Given the description of an element on the screen output the (x, y) to click on. 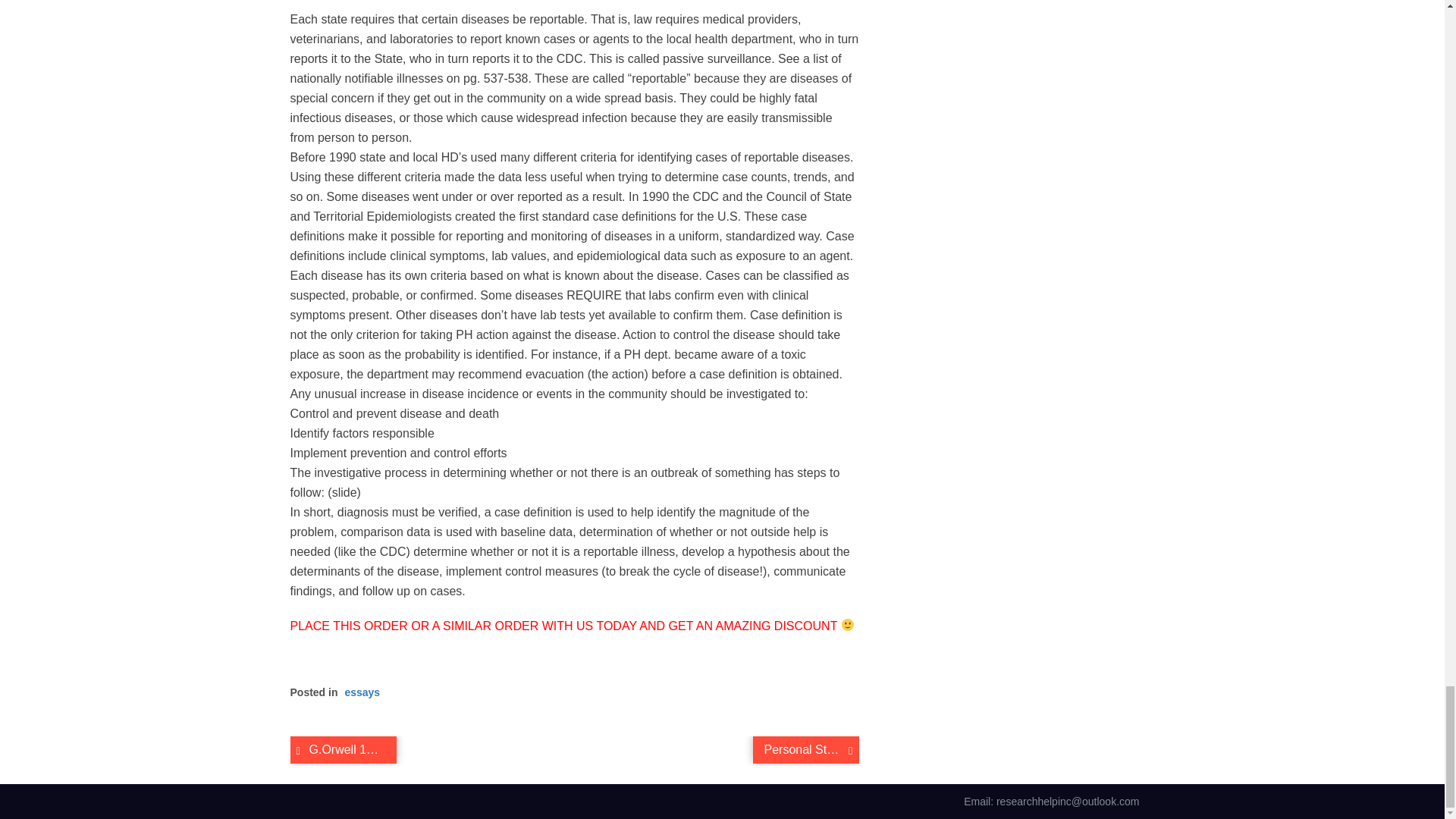
Personal Statement, Nursing (805, 749)
G.Orwell 1984 (342, 749)
essays (361, 692)
